Given the description of an element on the screen output the (x, y) to click on. 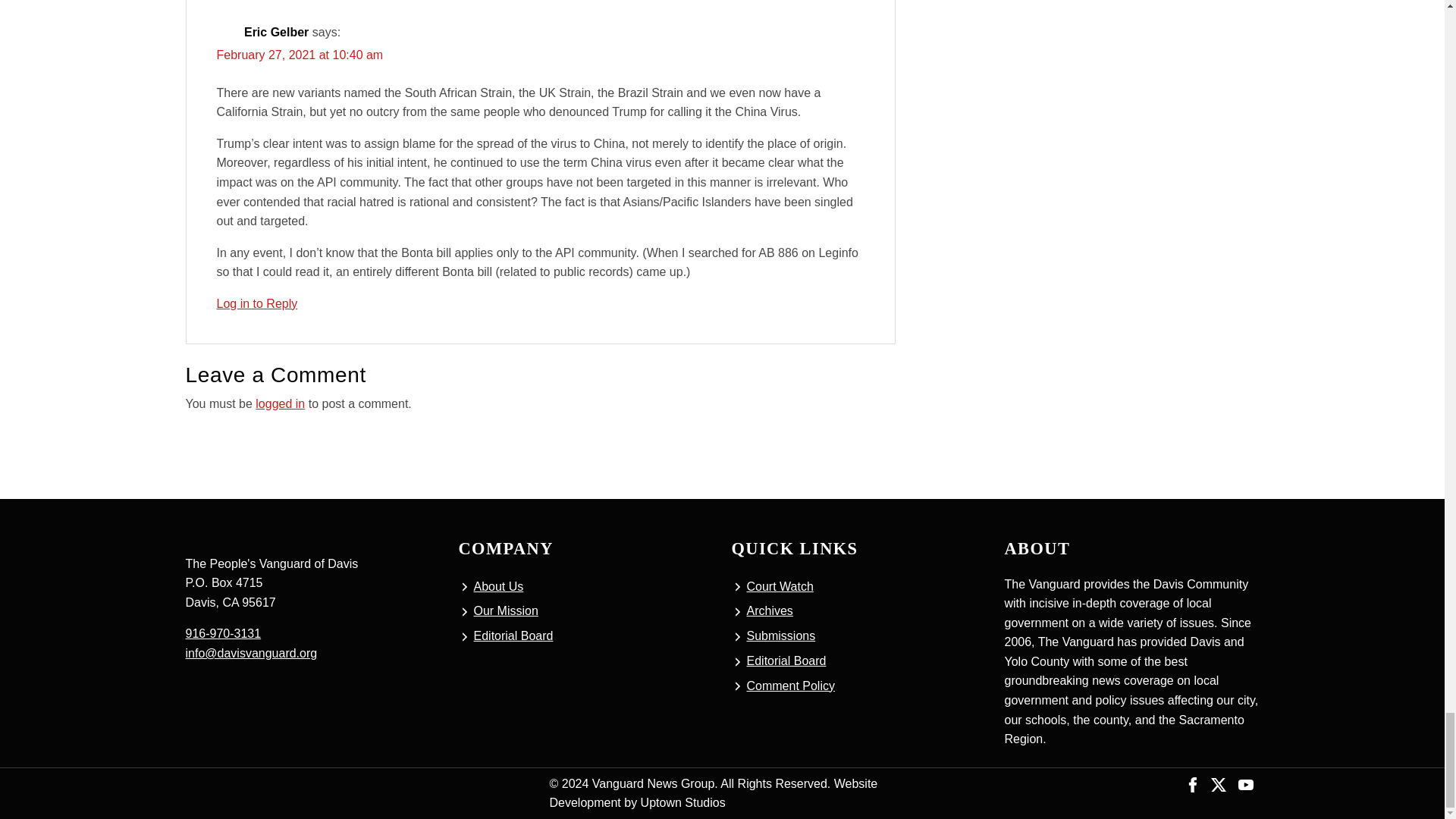
Facebook (1192, 783)
Twitter (1218, 783)
YouTube (1245, 783)
